Given the description of an element on the screen output the (x, y) to click on. 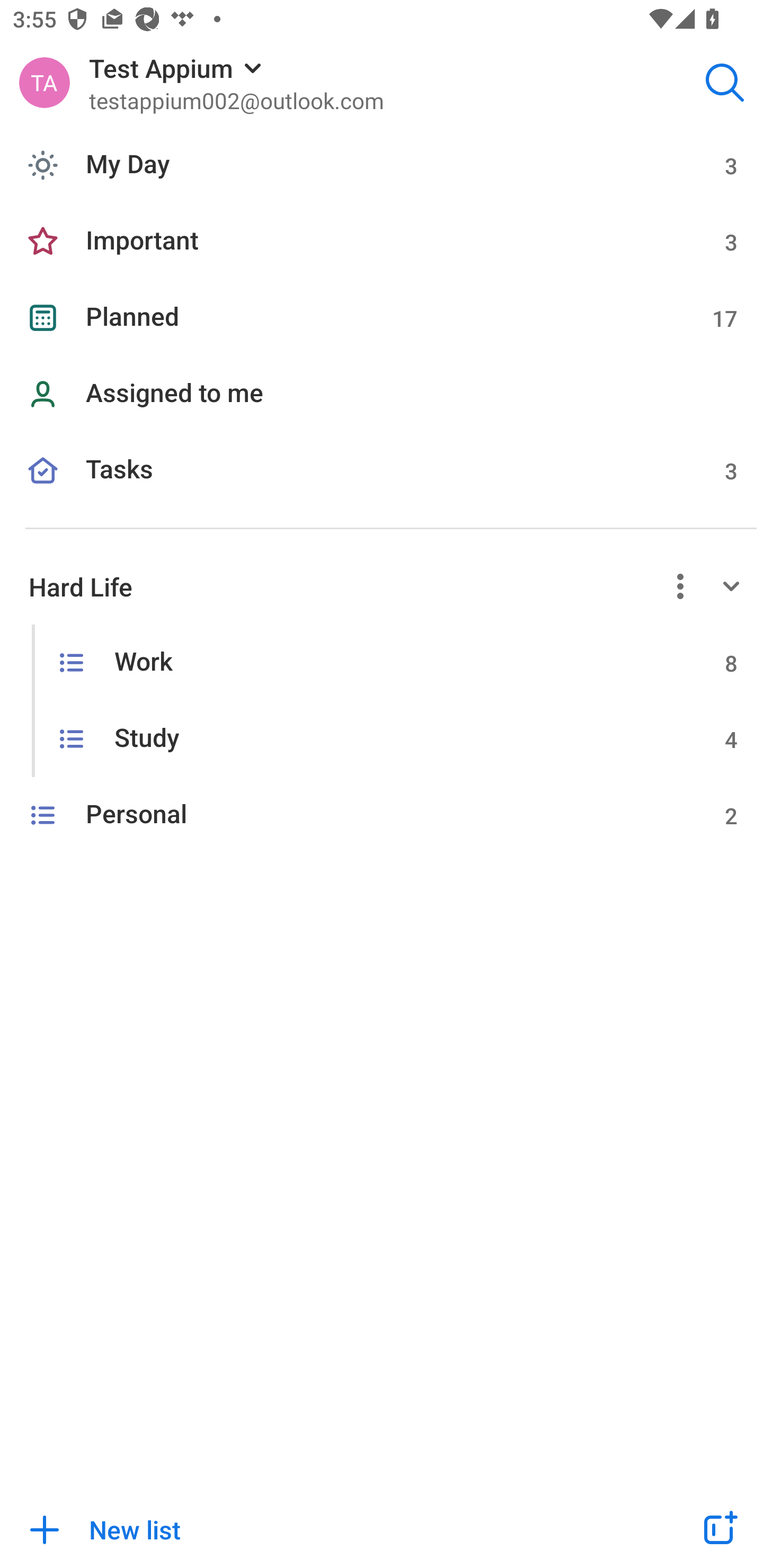
Personal, 2 tasks Personal 2 (381, 814)
